Given the description of an element on the screen output the (x, y) to click on. 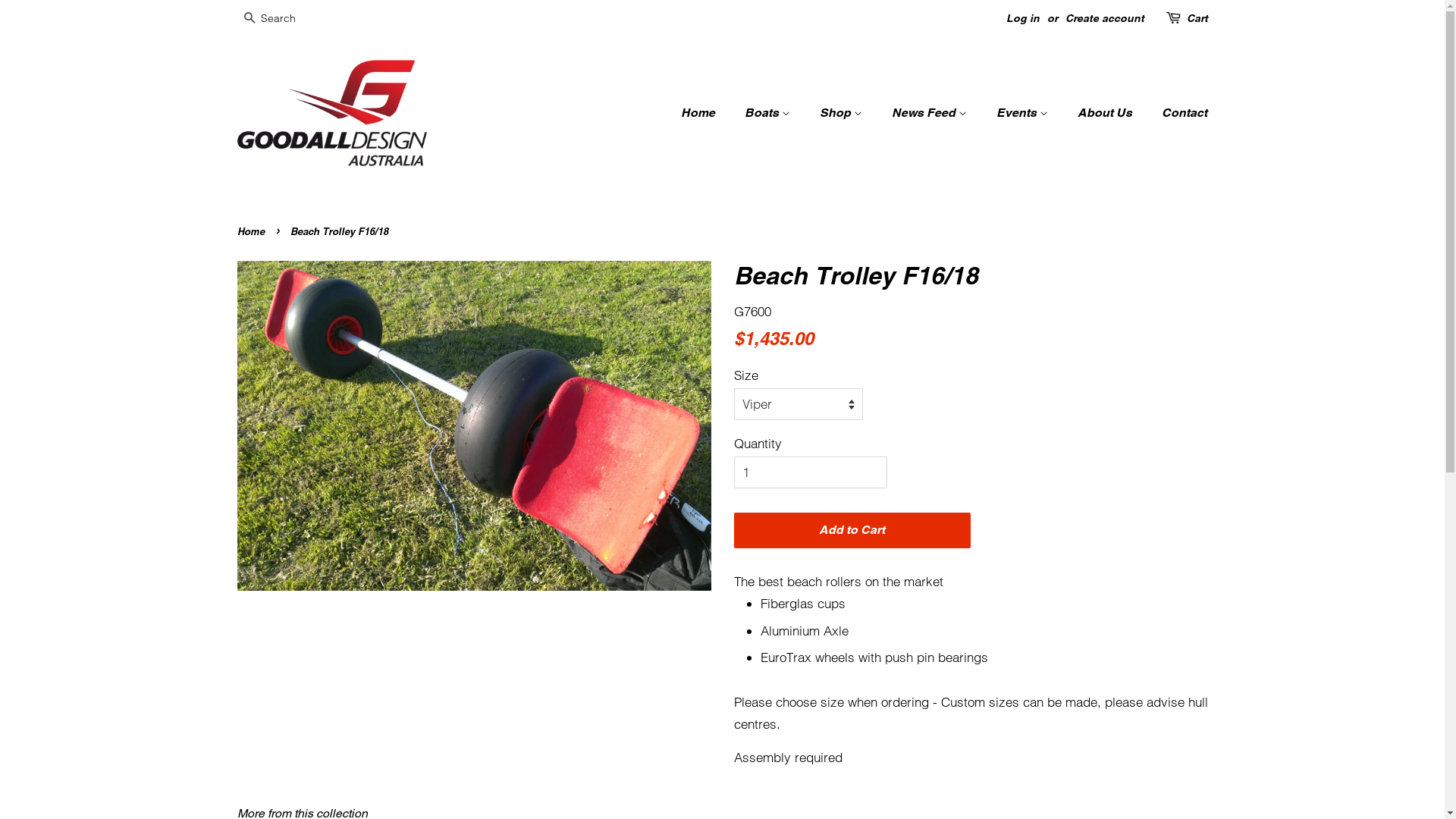
About Us Element type: text (1106, 112)
Shop Element type: text (842, 112)
Contact Element type: text (1178, 112)
Add to Cart Element type: text (852, 530)
Log in Element type: text (1021, 18)
Events Element type: text (1024, 112)
News Feed Element type: text (931, 112)
Boats Element type: text (769, 112)
Search Element type: text (248, 18)
Cart Element type: text (1196, 18)
Create account Element type: text (1103, 18)
Home Element type: text (251, 231)
Home Element type: text (705, 112)
